Given the description of an element on the screen output the (x, y) to click on. 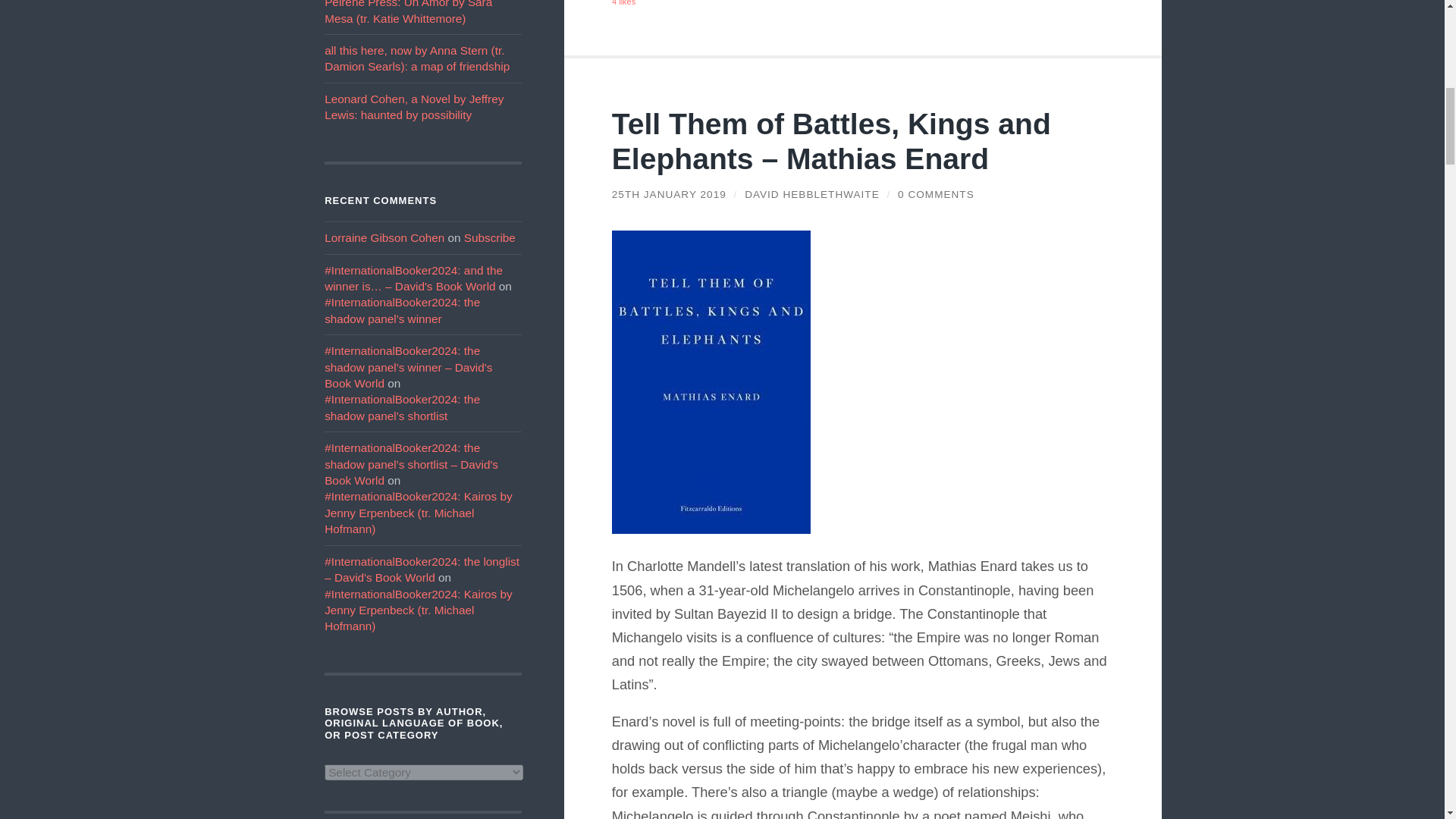
Subscribe (489, 237)
Posts by David Hebblethwaite (811, 194)
Like or Reblog (863, 3)
Lorraine Gibson Cohen (384, 237)
